Given the description of an element on the screen output the (x, y) to click on. 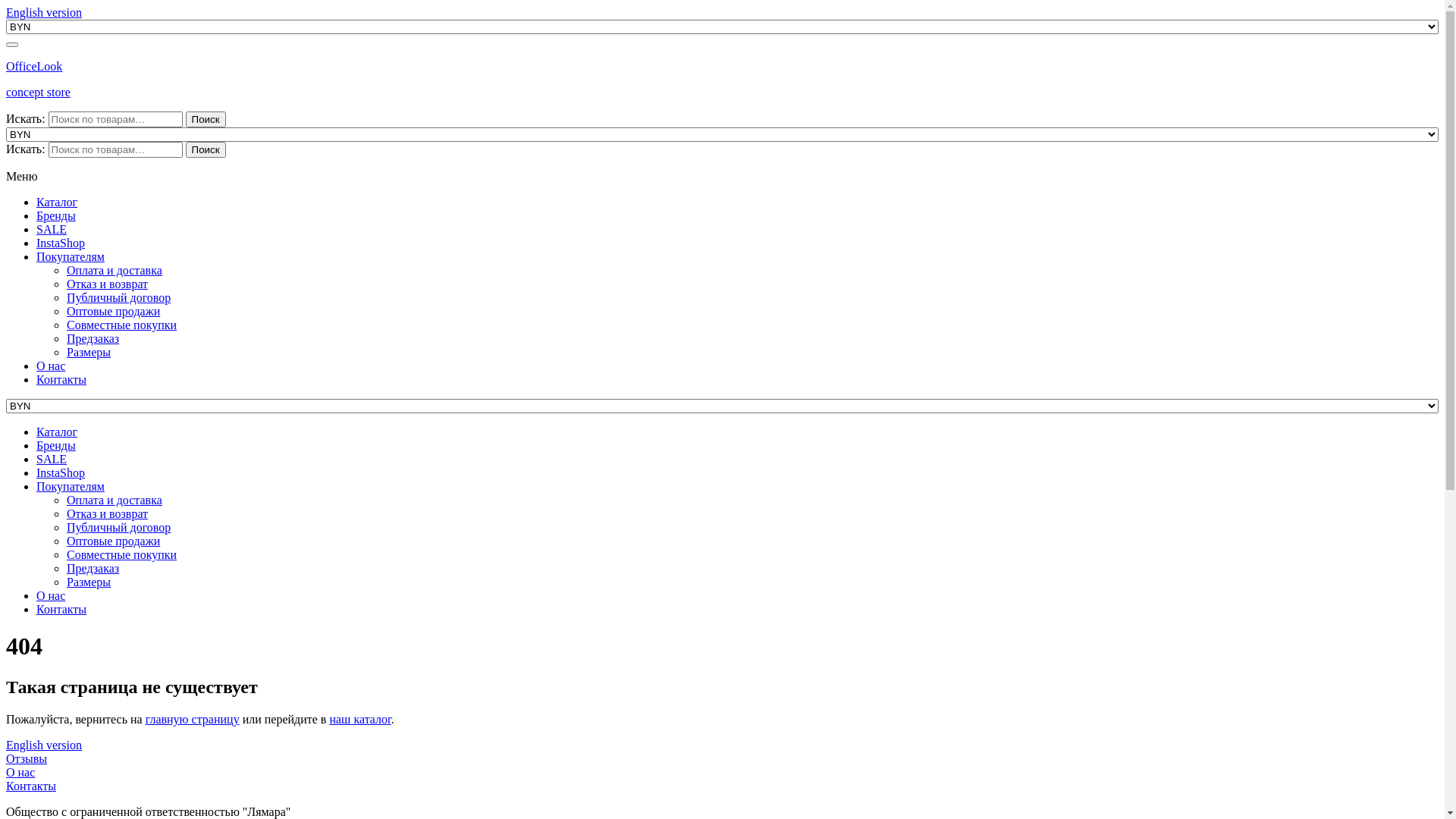
SALE Element type: text (51, 458)
English version Element type: text (43, 12)
OfficeLook
concept store Element type: text (722, 79)
InstaShop Element type: text (60, 242)
SALE Element type: text (51, 228)
English version Element type: text (43, 744)
InstaShop Element type: text (60, 472)
